Given the description of an element on the screen output the (x, y) to click on. 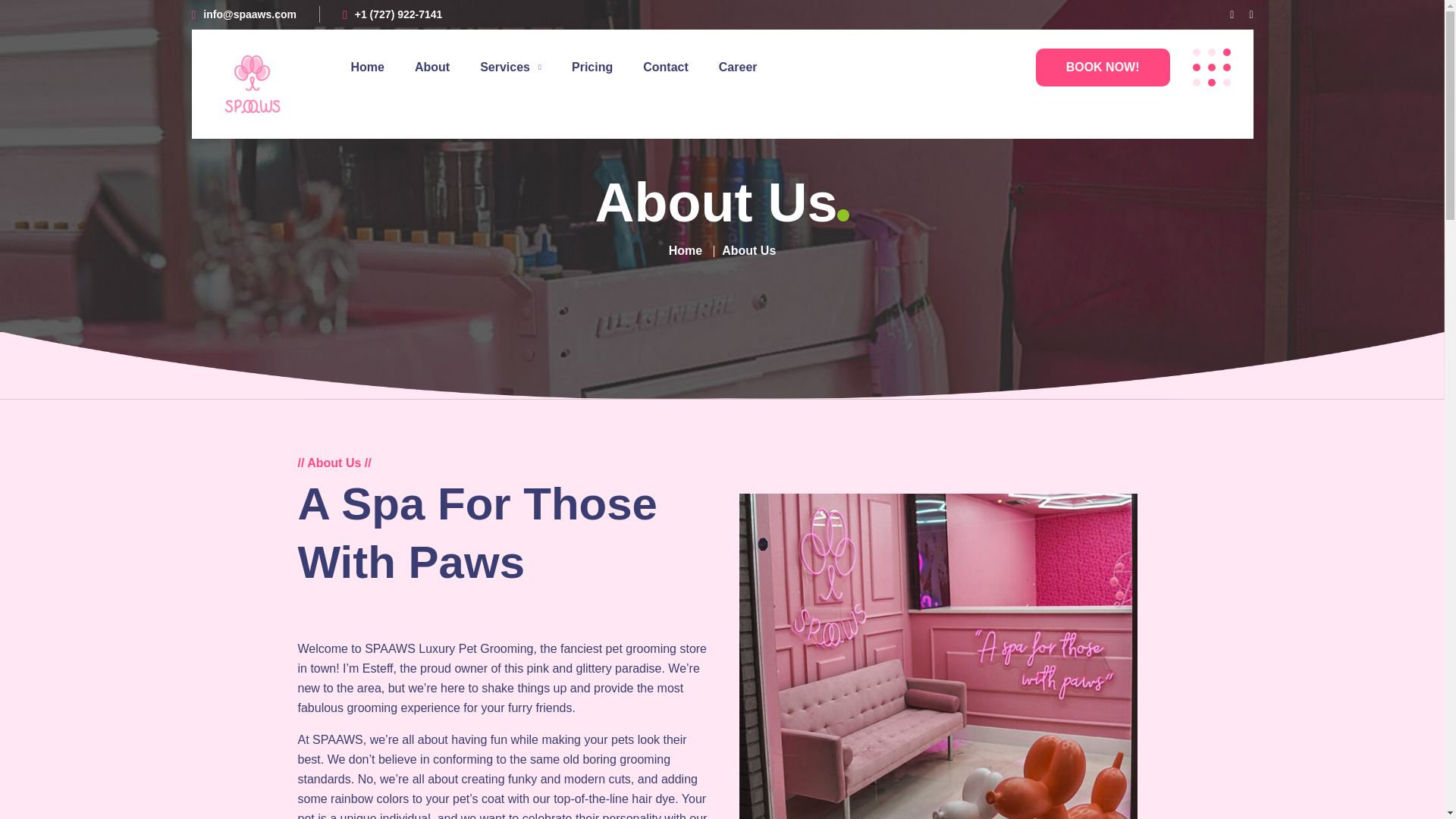
BOOK NOW! (1102, 67)
